Given the description of an element on the screen output the (x, y) to click on. 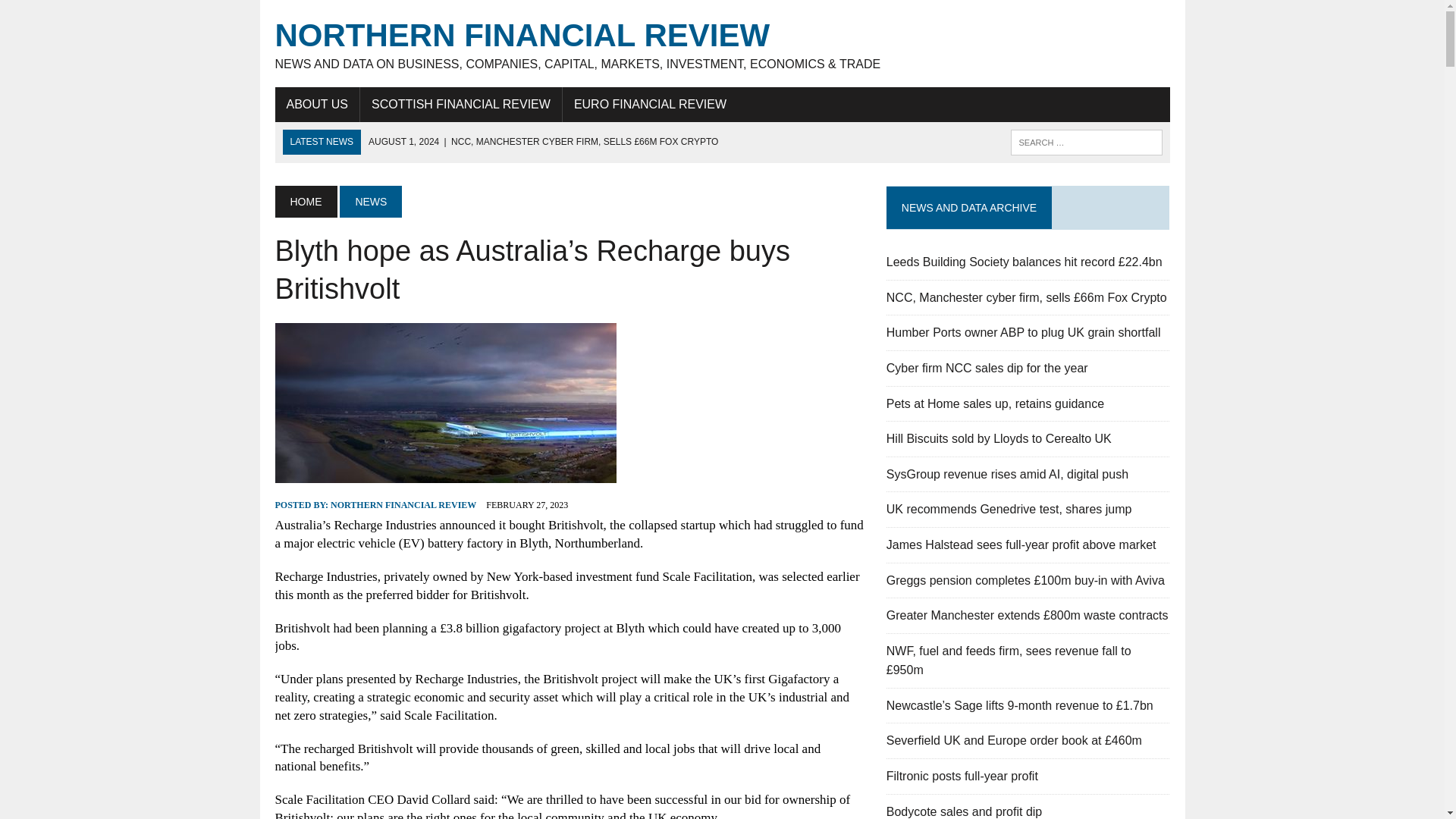
Pets at Home sales up, retains guidance (994, 403)
James Halstead sees full-year profit above market (1021, 544)
Hill Biscuits sold by Lloyds to Cerealto UK (999, 438)
SysGroup revenue rises amid AI, digital push (1007, 473)
Northern Financial Review (722, 43)
EURO FINANCIAL REVIEW (650, 104)
Search (75, 14)
SCOTTISH FINANCIAL REVIEW (460, 104)
Humber Ports owner ABP to plug UK grain shortfall (1023, 332)
NORTHERN FINANCIAL REVIEW (403, 504)
